Given the description of an element on the screen output the (x, y) to click on. 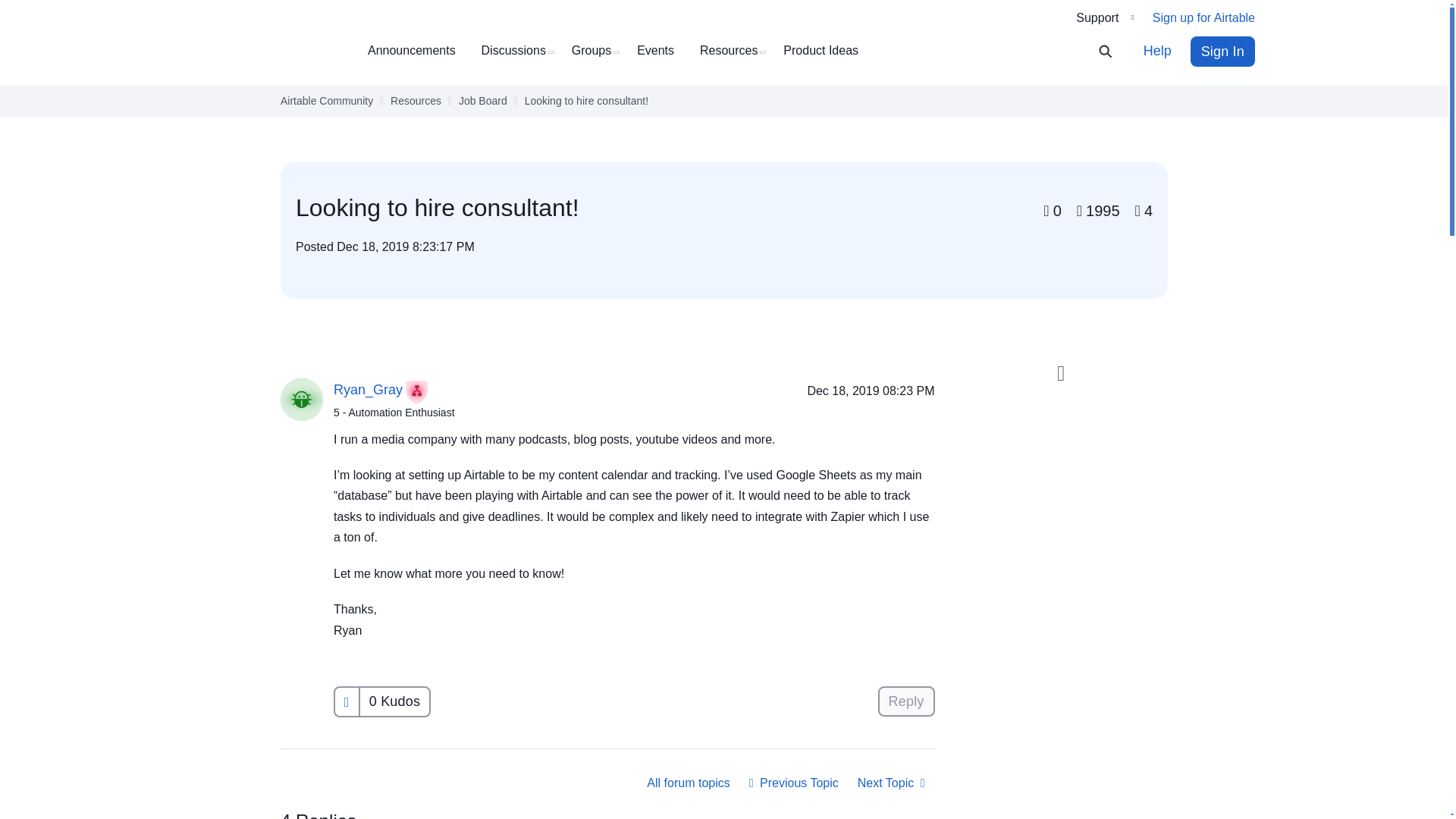
Resources (734, 50)
Product Ideas (826, 50)
Airtable Community (269, 51)
Discussions (519, 50)
Sign up for Airtable (1204, 17)
Announcements (417, 50)
Resources (415, 101)
Groups (597, 50)
Job Board (482, 101)
Help (1157, 50)
